Given the description of an element on the screen output the (x, y) to click on. 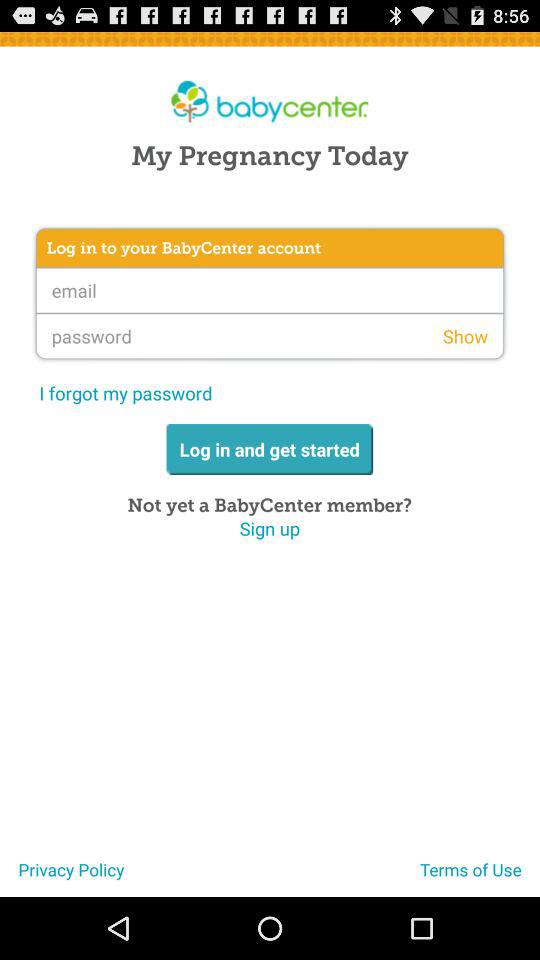
choose the icon above the privacy policy icon (269, 528)
